Given the description of an element on the screen output the (x, y) to click on. 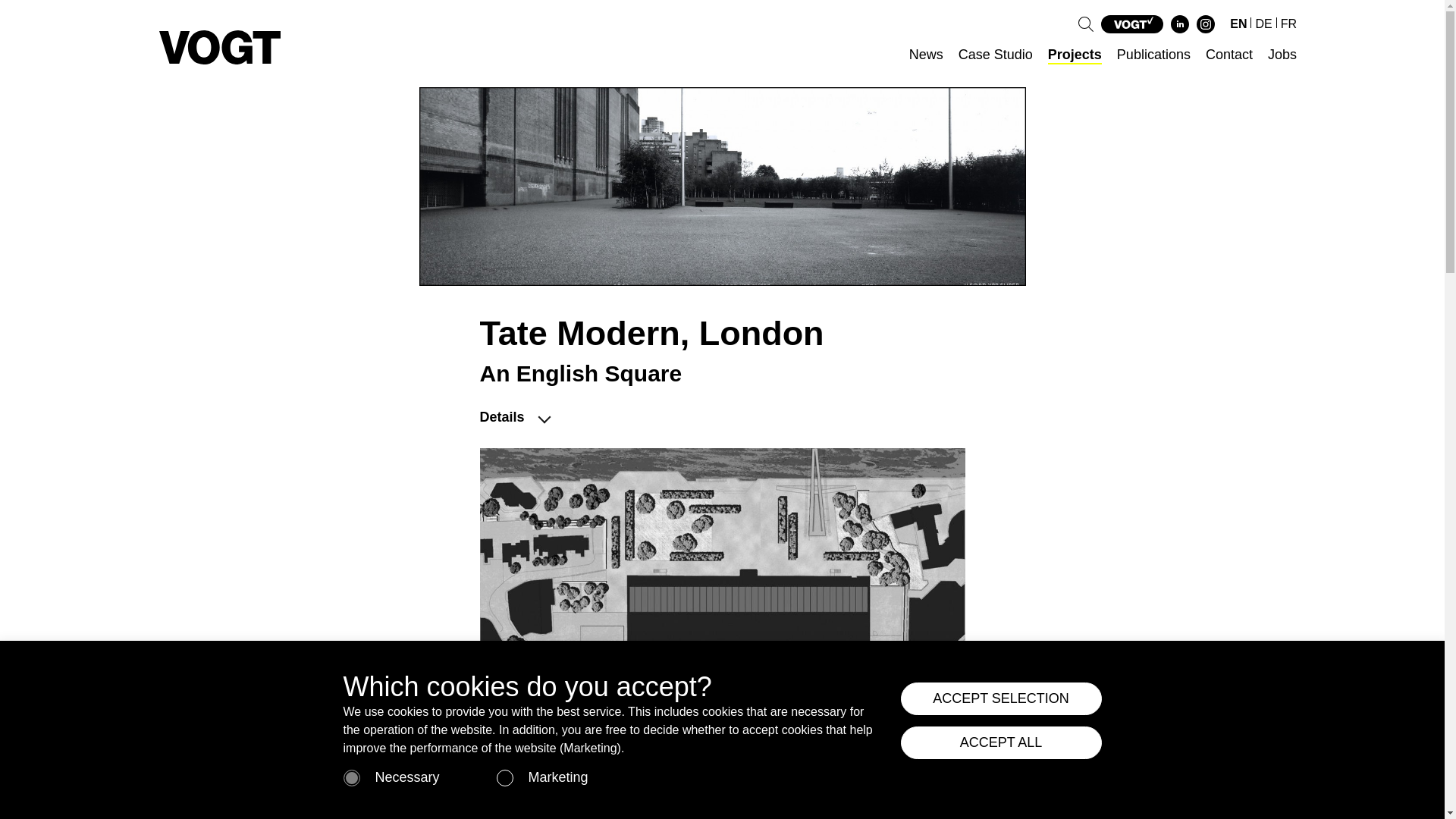
Projects (1075, 54)
ACCEPT ALL (1001, 742)
Jobs (1282, 54)
on (505, 778)
Login (763, 800)
Privacy (724, 800)
ACCEPT SELECTION (1001, 698)
Case Studio (995, 54)
on (351, 778)
Imprint (684, 800)
